Given the description of an element on the screen output the (x, y) to click on. 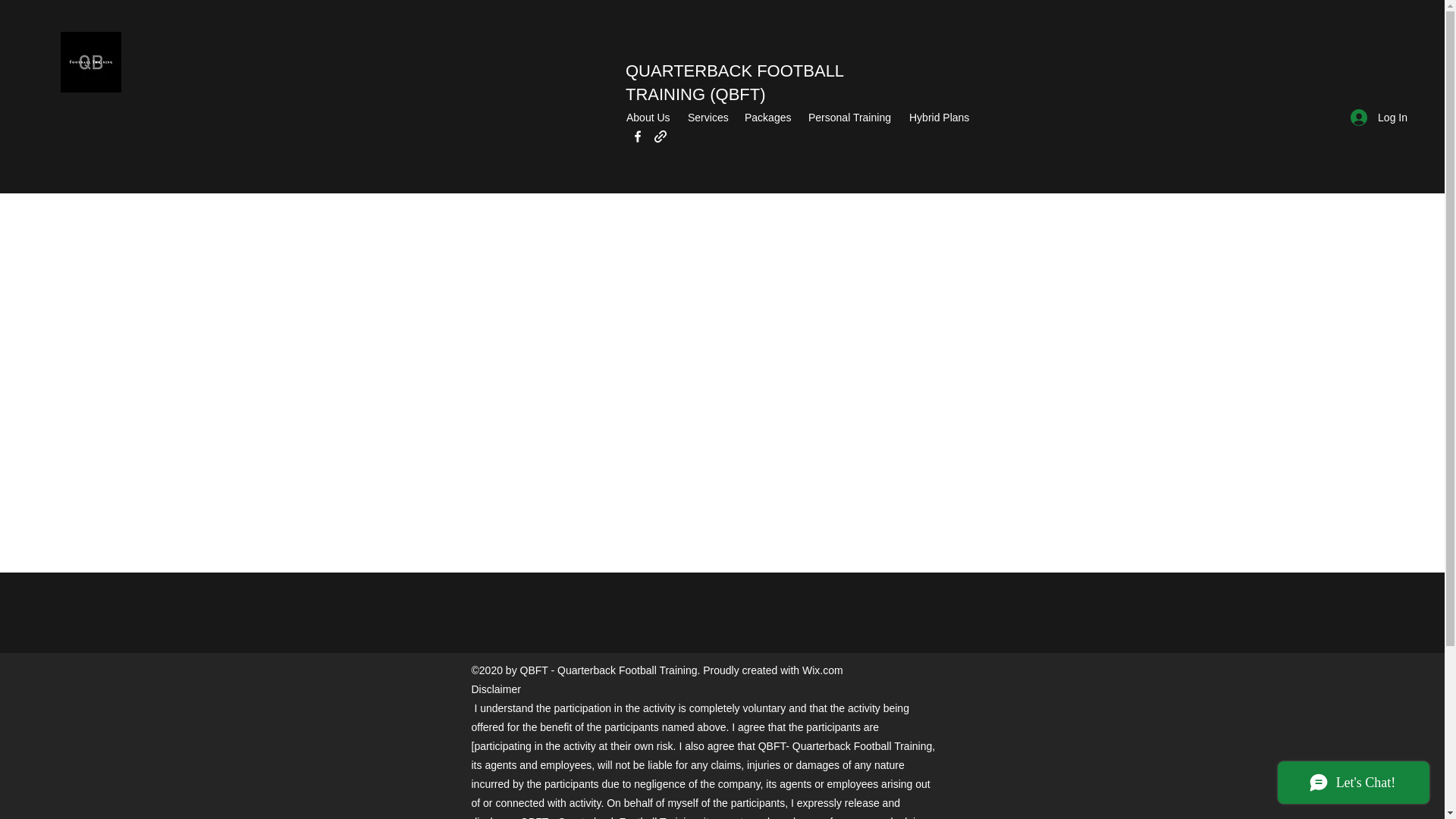
Personal Training (850, 117)
About Us (648, 117)
Packages (768, 117)
Services (707, 117)
Hybrid Plans (940, 117)
Log In (1378, 117)
